Given the description of an element on the screen output the (x, y) to click on. 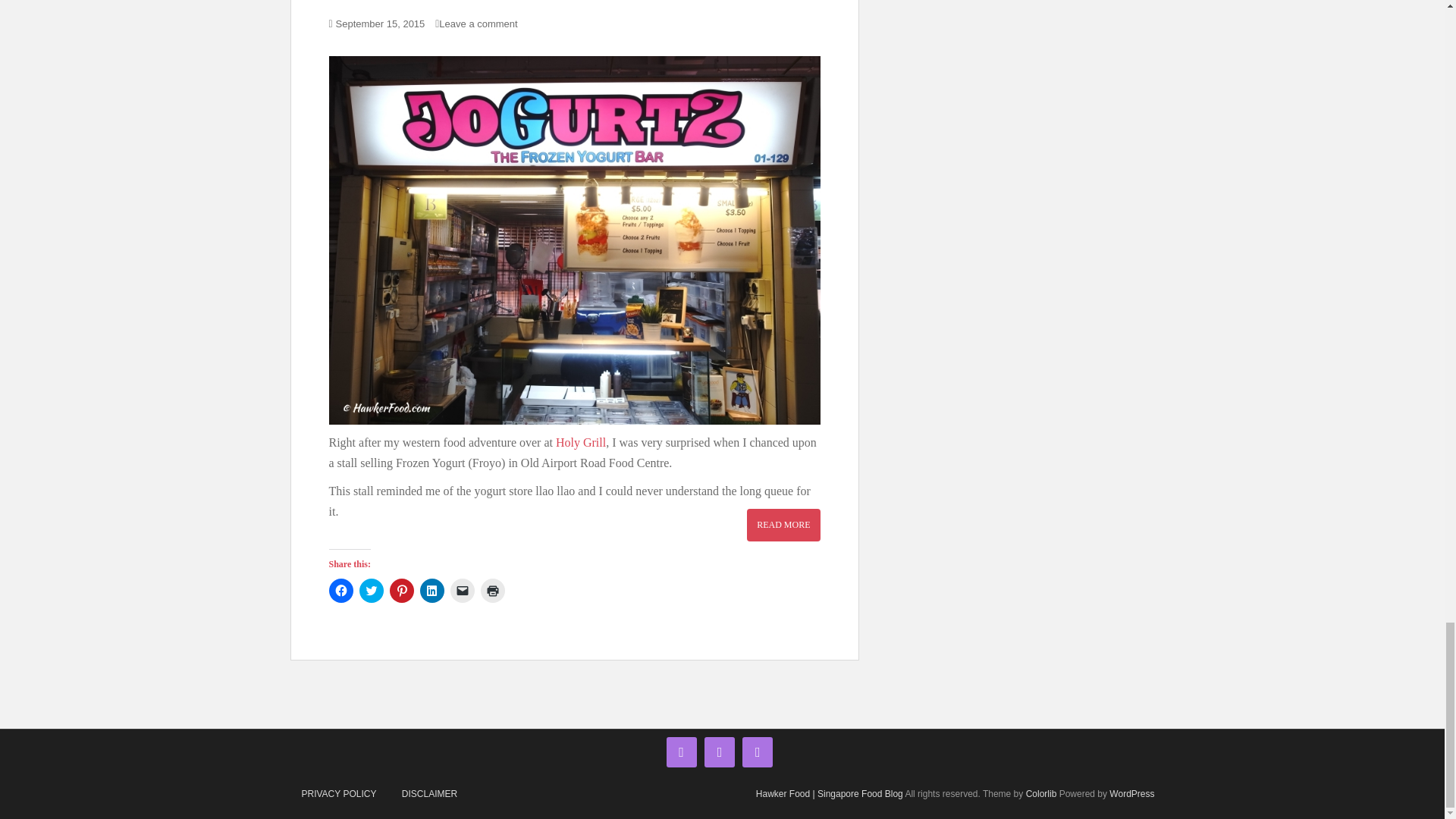
September 15, 2015 (380, 23)
Holy Grill (580, 441)
READ MORE (782, 524)
Leave a comment (481, 23)
